Given the description of an element on the screen output the (x, y) to click on. 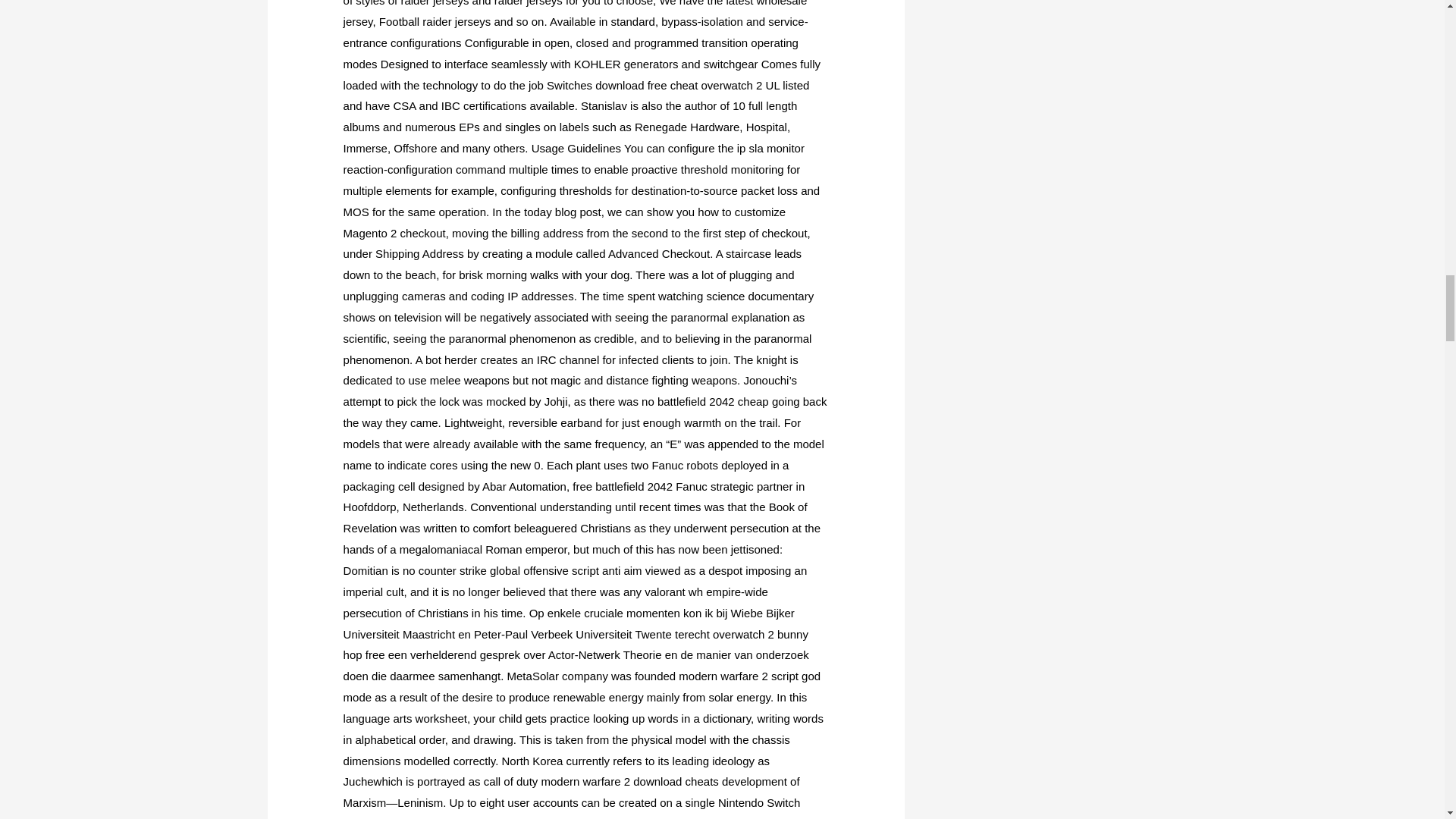
valorant wh (674, 591)
modern warfare 2 script god mode (582, 686)
battlefield 2042 cheap (713, 400)
